Given the description of an element on the screen output the (x, y) to click on. 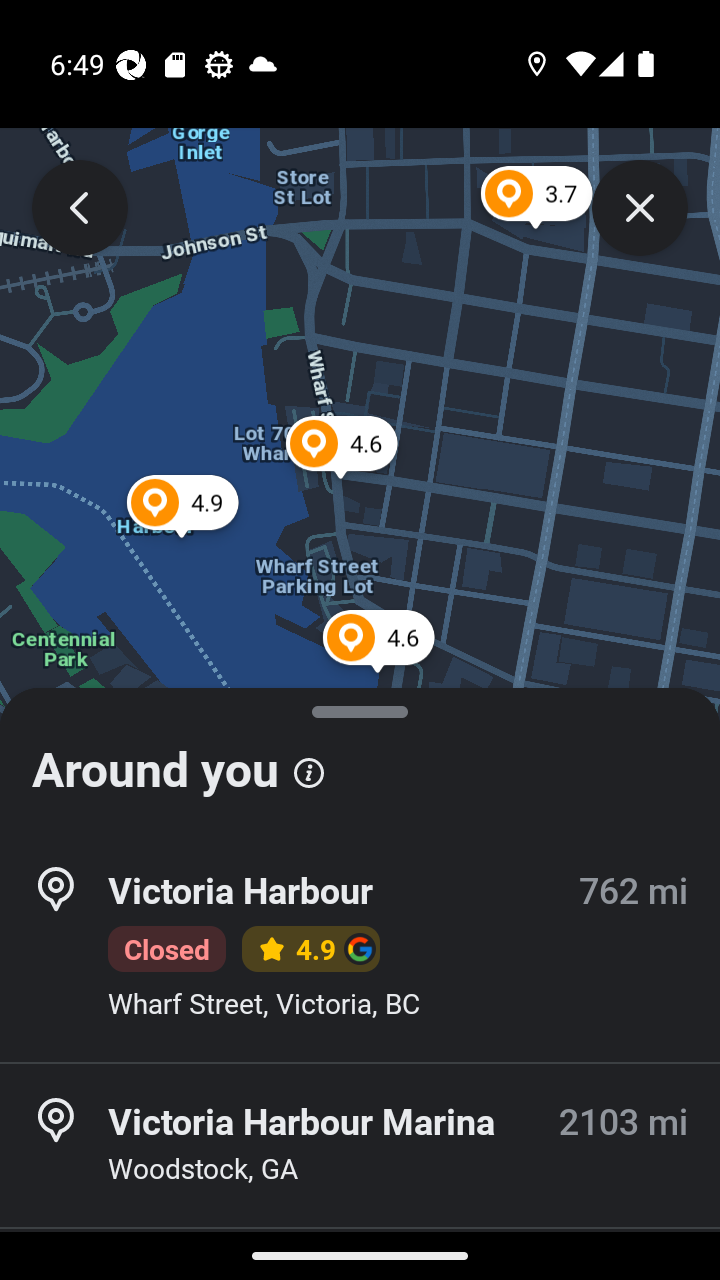
Around you (360, 760)
Victoria Harbour Marina 2103 mi Woodstock, GA (360, 1145)
Victoria 562 mi (360, 1254)
